Given the description of an element on the screen output the (x, y) to click on. 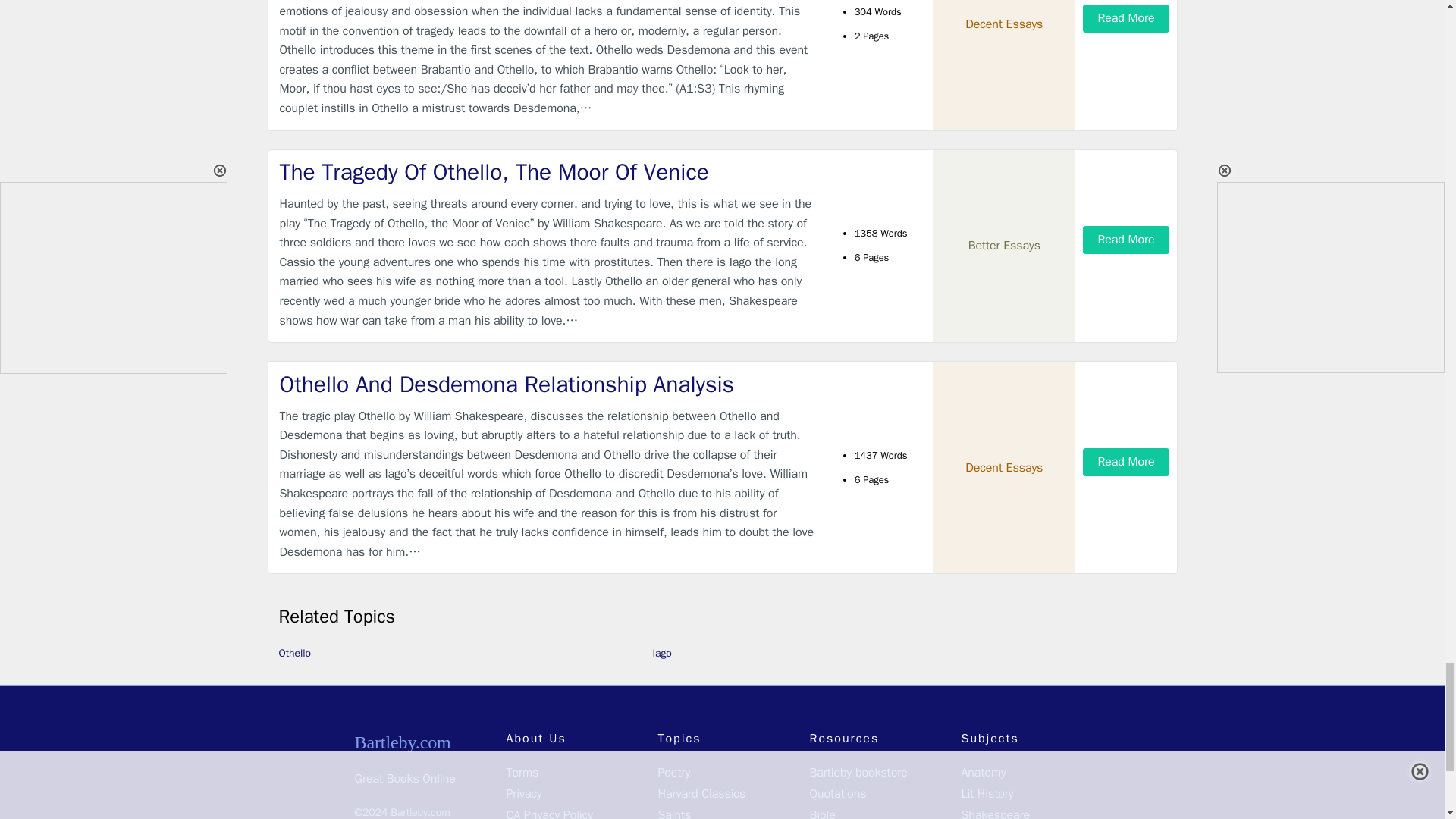
Othello (295, 653)
Iago (661, 653)
